Given the description of an element on the screen output the (x, y) to click on. 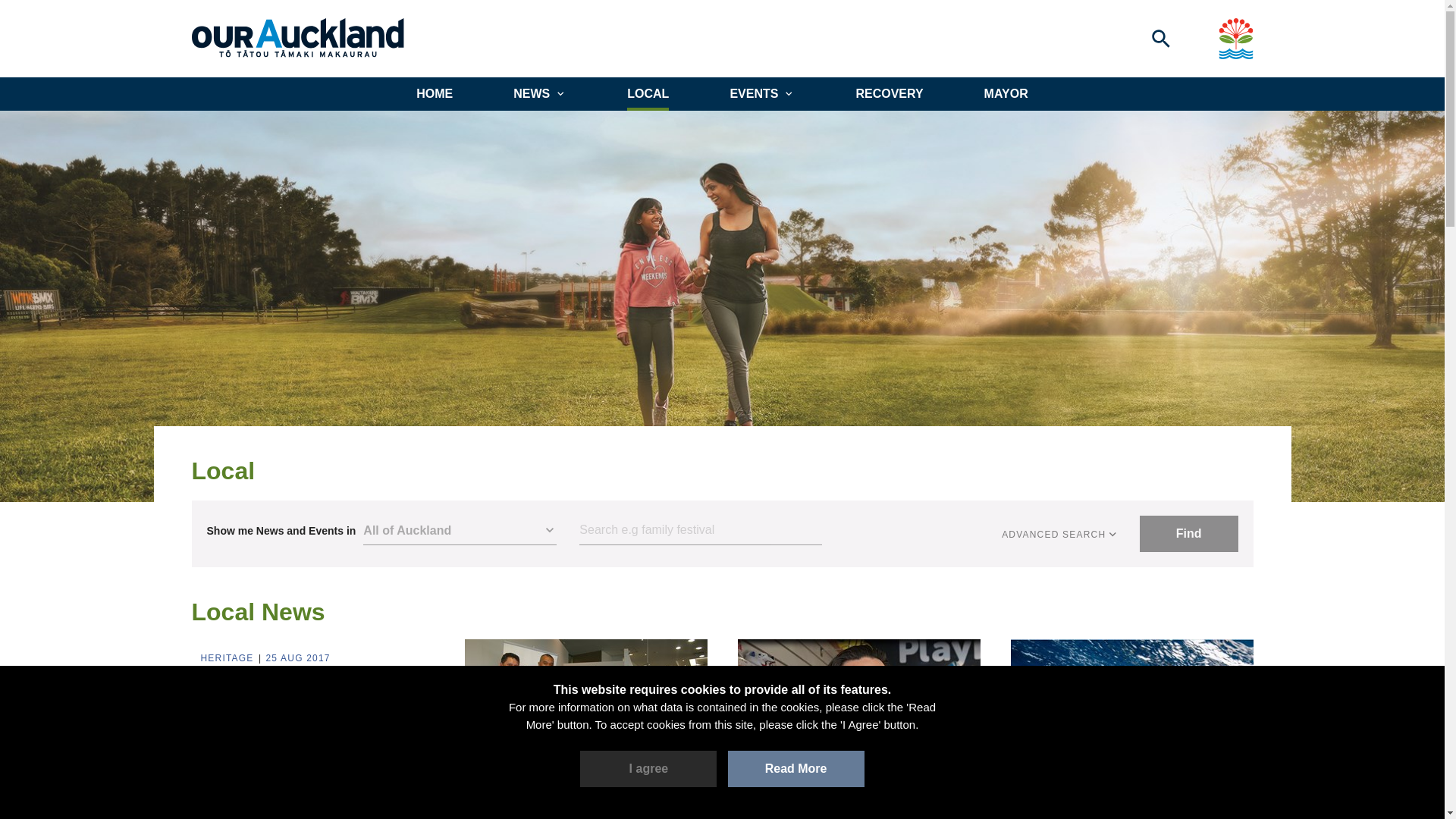
LOCAL (647, 93)
MAYOR (1005, 93)
HERITAGE (228, 658)
Toggle search (1160, 38)
RECOVERY (889, 93)
Search (700, 530)
The Tepid Baths: An Auckland gem (312, 690)
ADVANCED SEARCH (1060, 534)
Find (1189, 533)
HOME (434, 93)
